Given the description of an element on the screen output the (x, y) to click on. 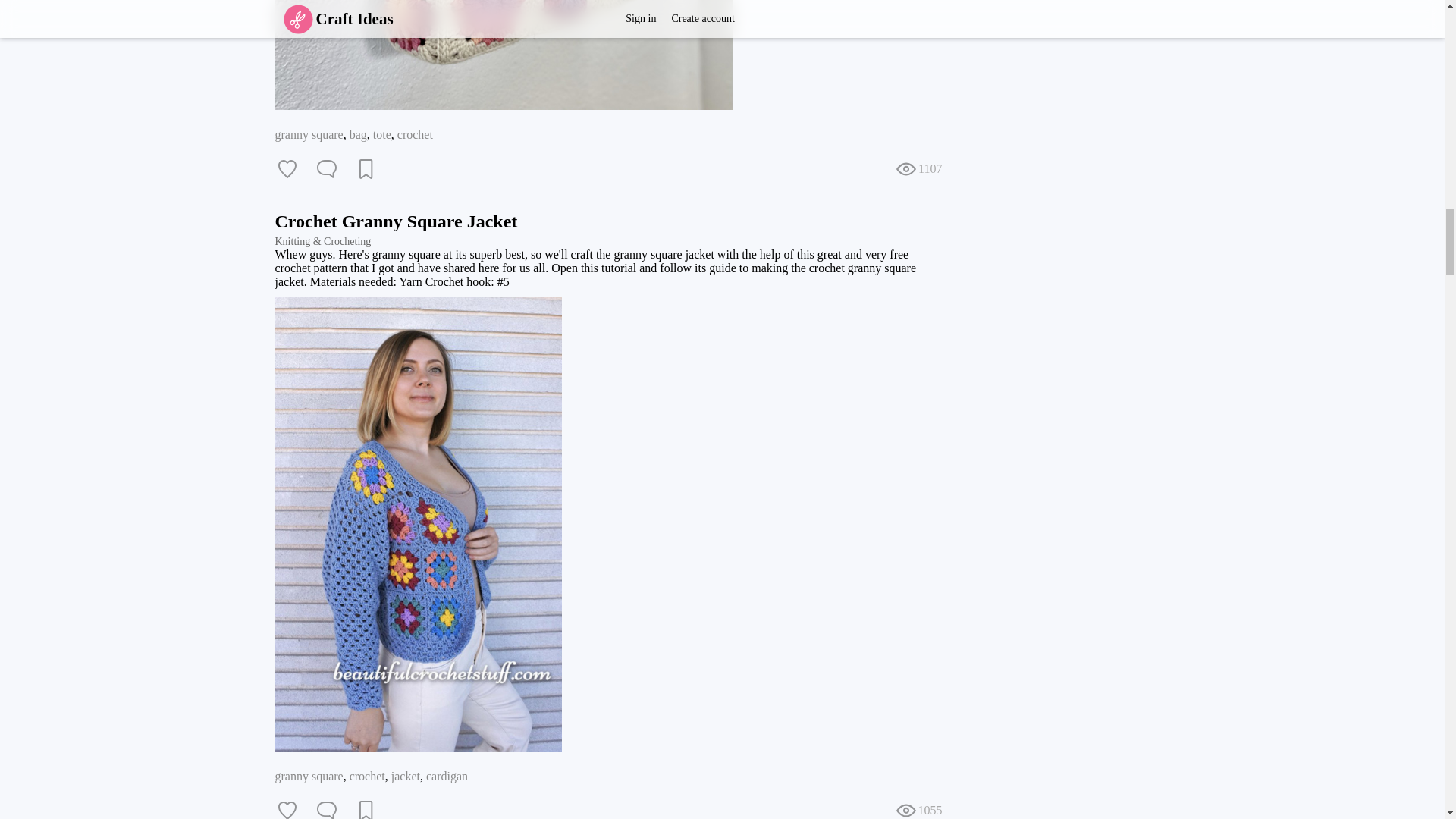
Comments (325, 168)
bag (357, 133)
Crochet Granny Square Jacket (395, 220)
Views (917, 808)
Views (917, 168)
crochet (414, 133)
granny square (308, 133)
Comments (325, 808)
tote (381, 133)
